Given the description of an element on the screen output the (x, y) to click on. 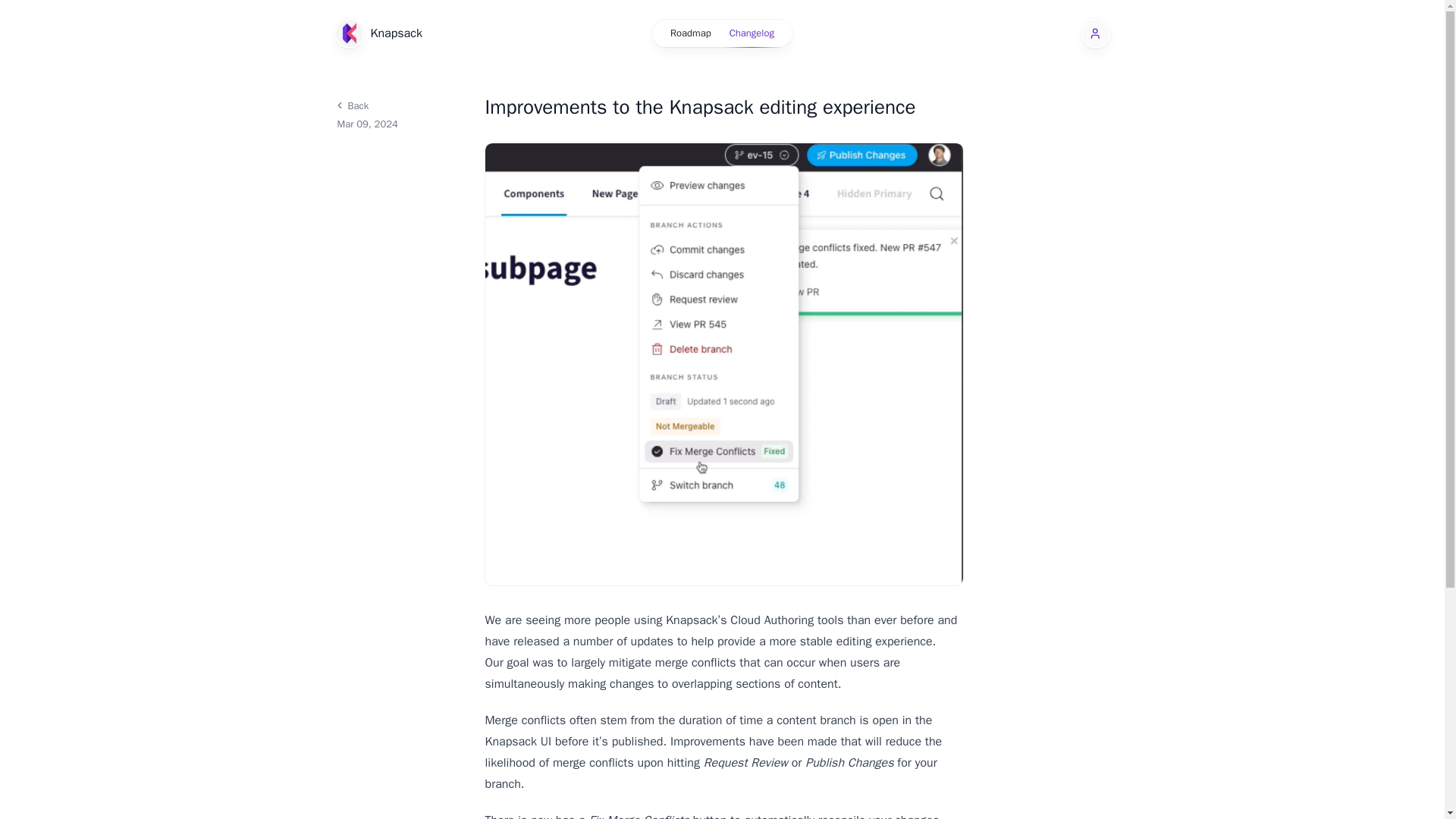
Improvements to the Knapsack editing experience (723, 107)
Roadmap (690, 32)
Back (399, 104)
Knapsack (377, 33)
Mar 09, 2024 (400, 124)
Changelog (751, 32)
